Given the description of an element on the screen output the (x, y) to click on. 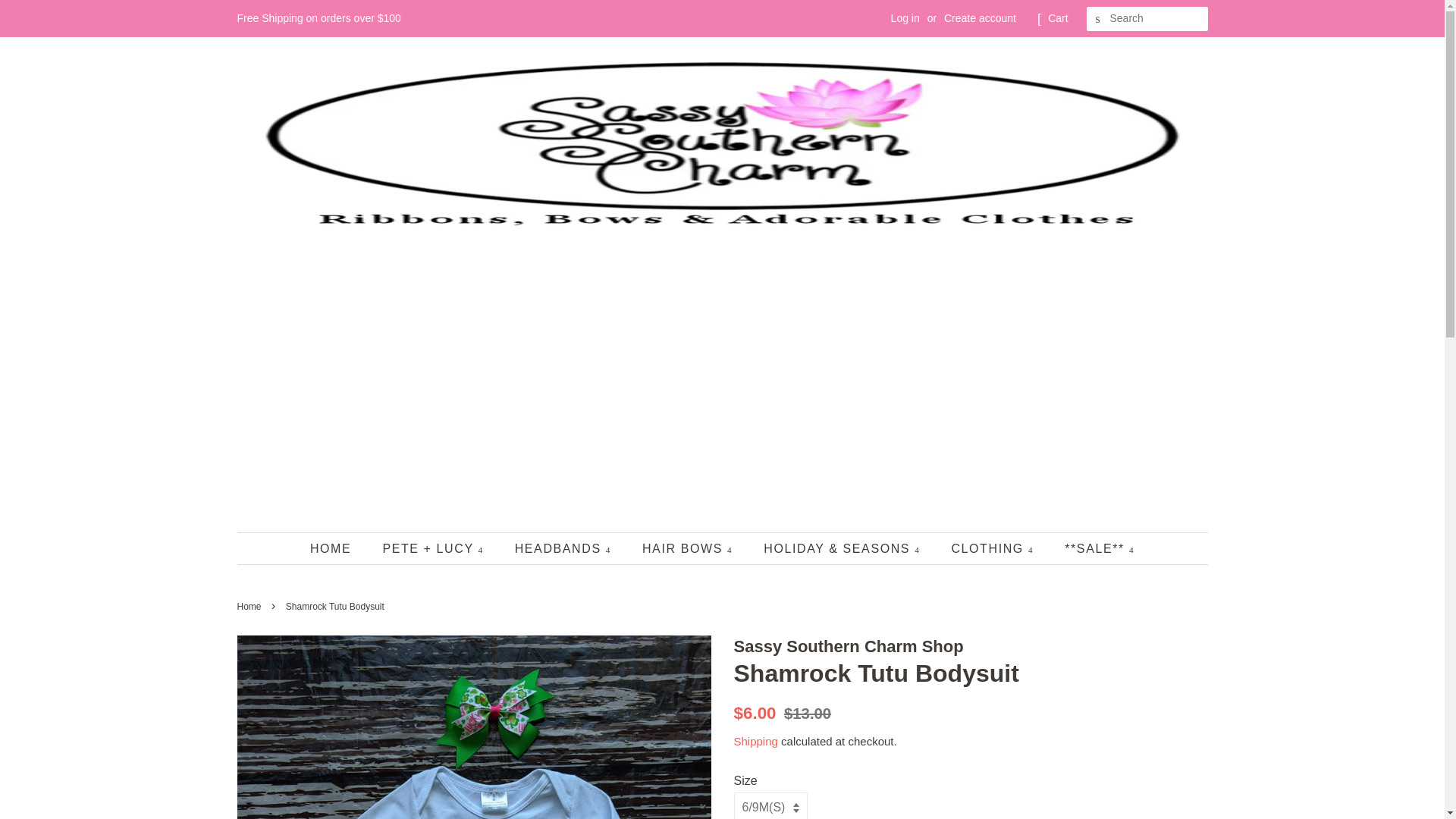
SEARCH (1097, 18)
Create account (979, 18)
Cart (1057, 18)
Back to the frontpage (249, 606)
Log in (905, 18)
